Given the description of an element on the screen output the (x, y) to click on. 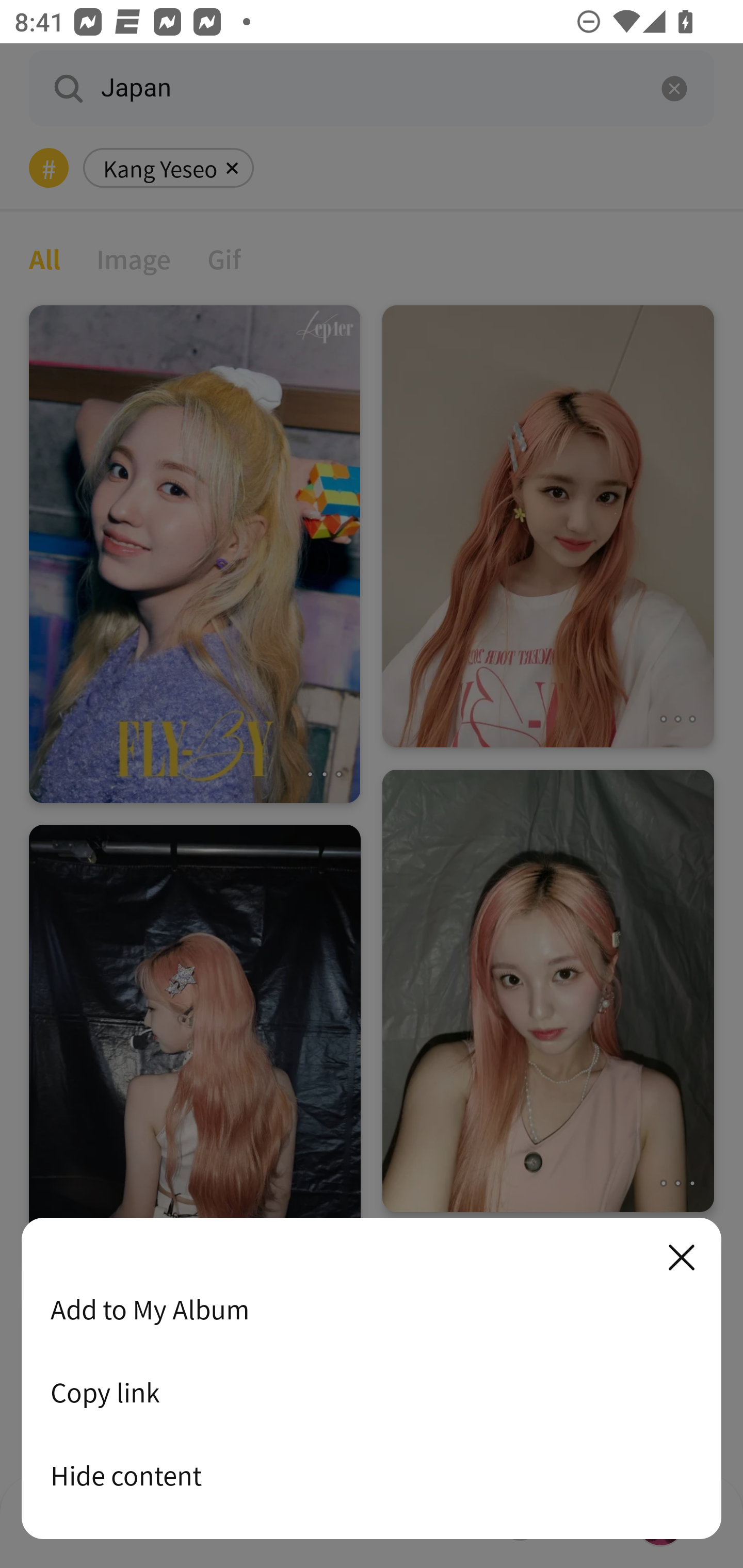
Add to My Album Copy link Hide content (371, 1378)
Add to My Album (371, 1308)
Copy link (371, 1391)
Hide content (371, 1474)
